Given the description of an element on the screen output the (x, y) to click on. 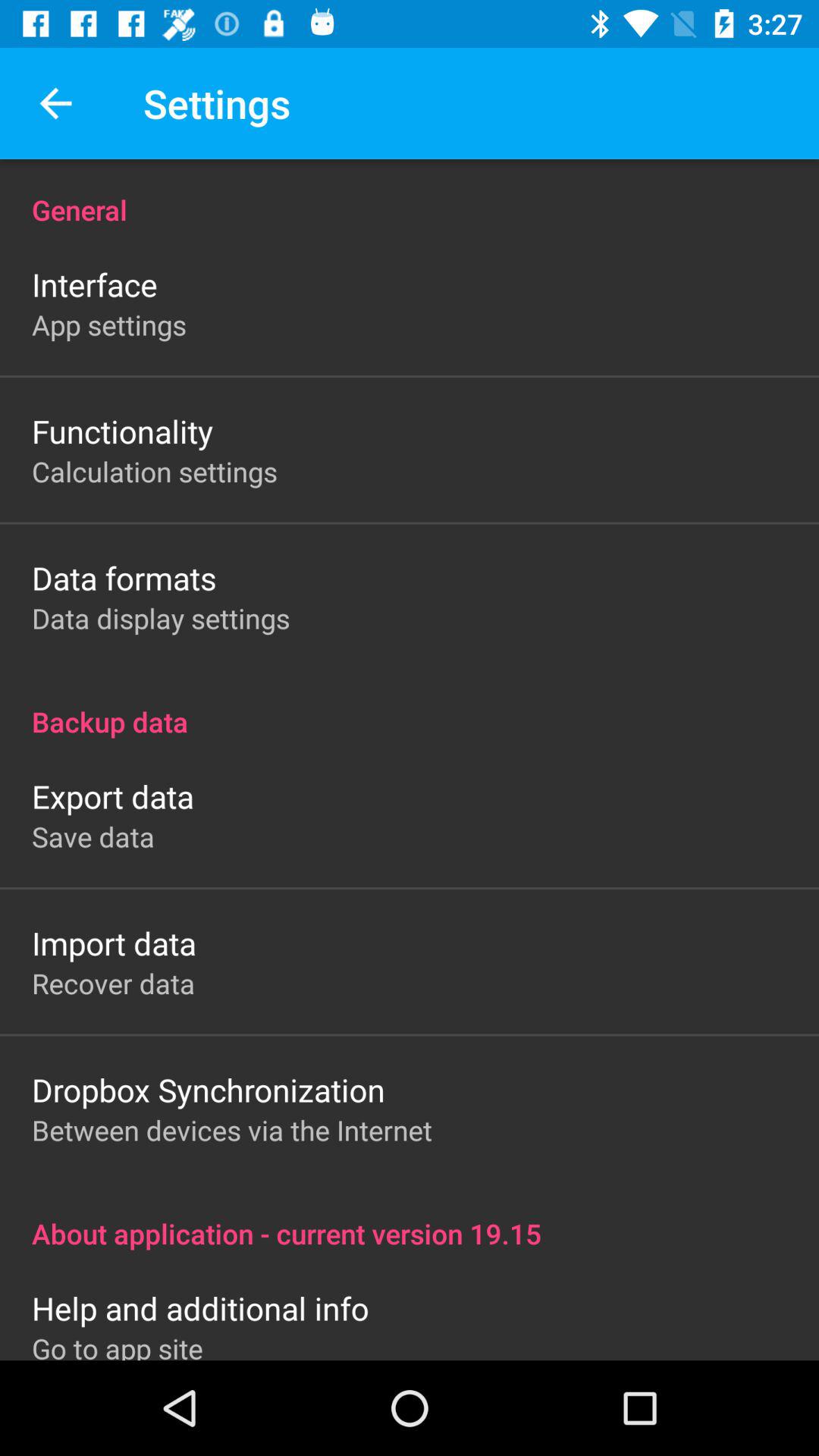
jump until the save data icon (92, 836)
